Given the description of an element on the screen output the (x, y) to click on. 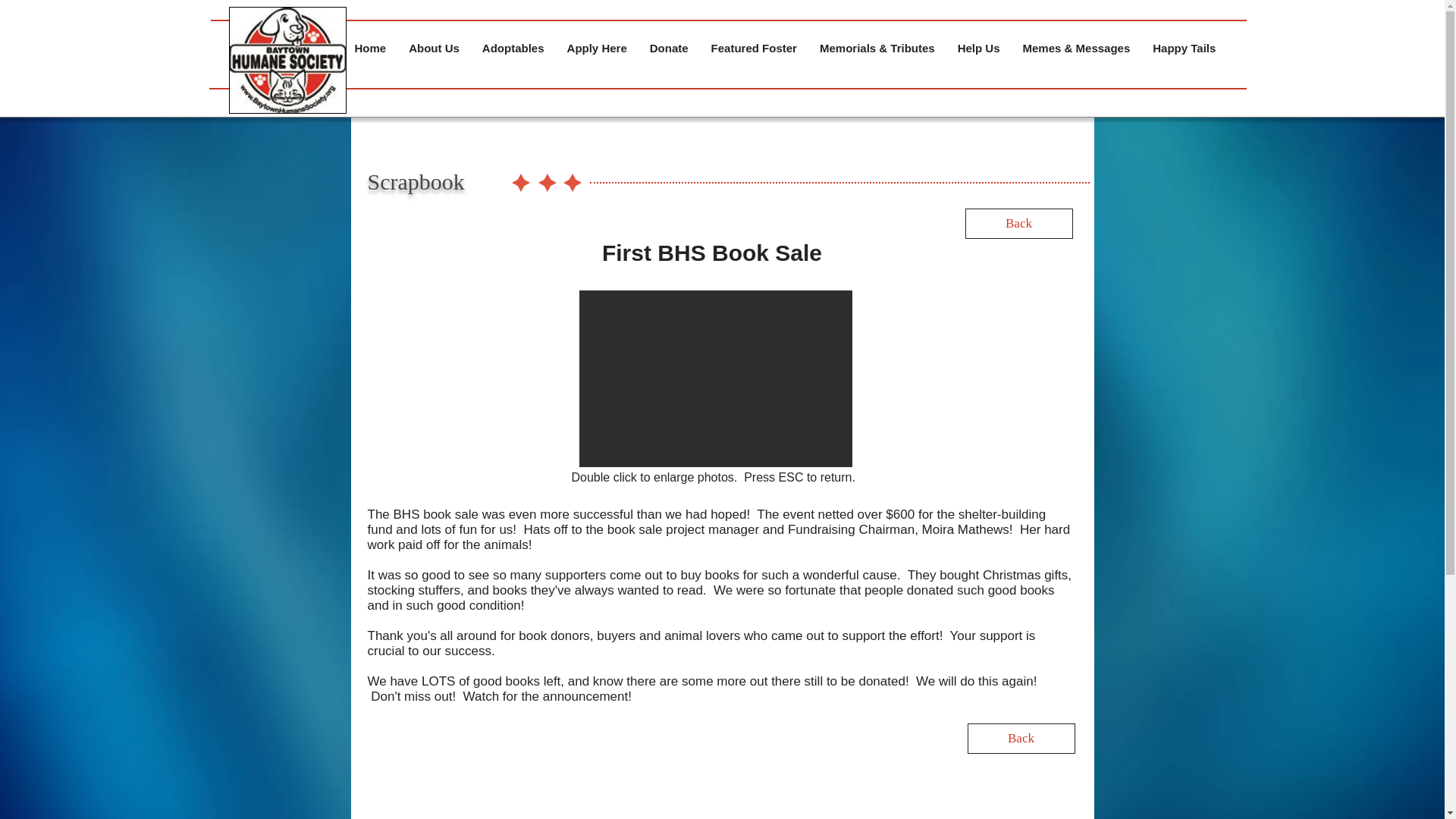
About Us (433, 51)
Help Us (978, 51)
Apply Here (597, 51)
bhslogo.jpg (287, 59)
Featured Foster (754, 51)
Home (369, 51)
Adoptables (513, 51)
Happy Tails (1184, 51)
Donate (669, 51)
Back (1017, 223)
